Given the description of an element on the screen output the (x, y) to click on. 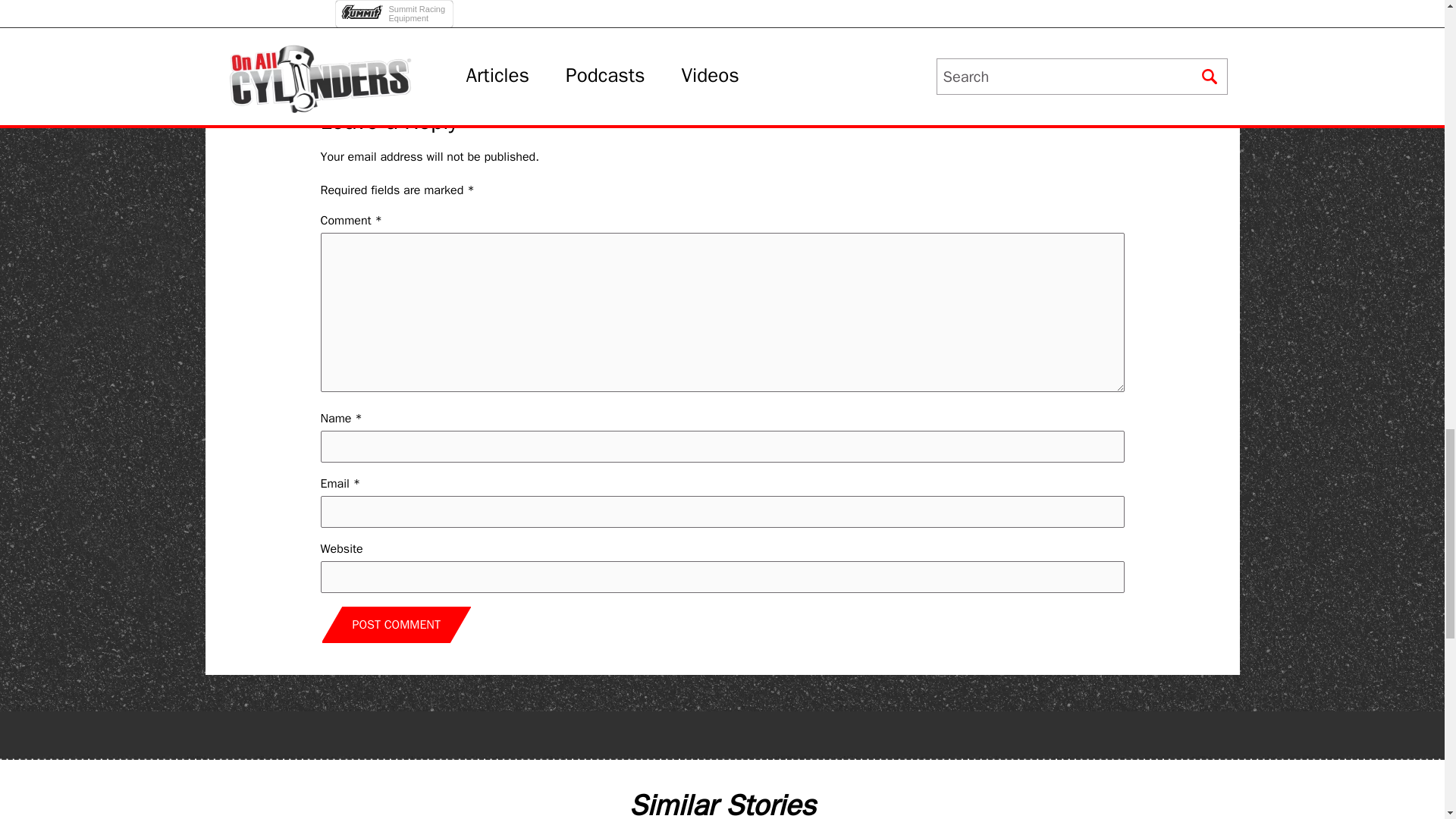
Post Comment (395, 624)
